Given the description of an element on the screen output the (x, y) to click on. 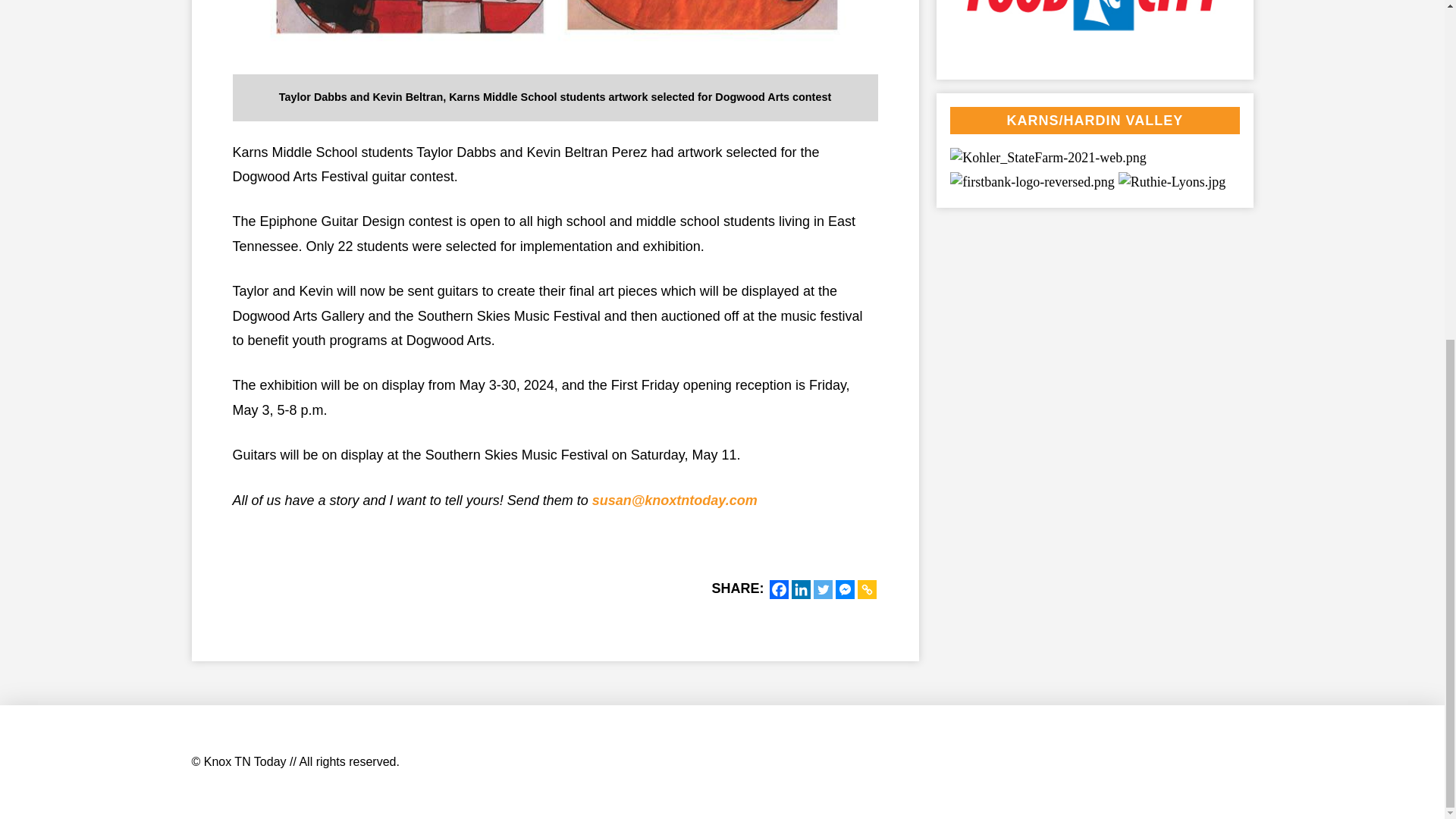
Twitter (821, 588)
Copy Link (866, 588)
Linkedin (801, 588)
Facebook (777, 588)
